Given the description of an element on the screen output the (x, y) to click on. 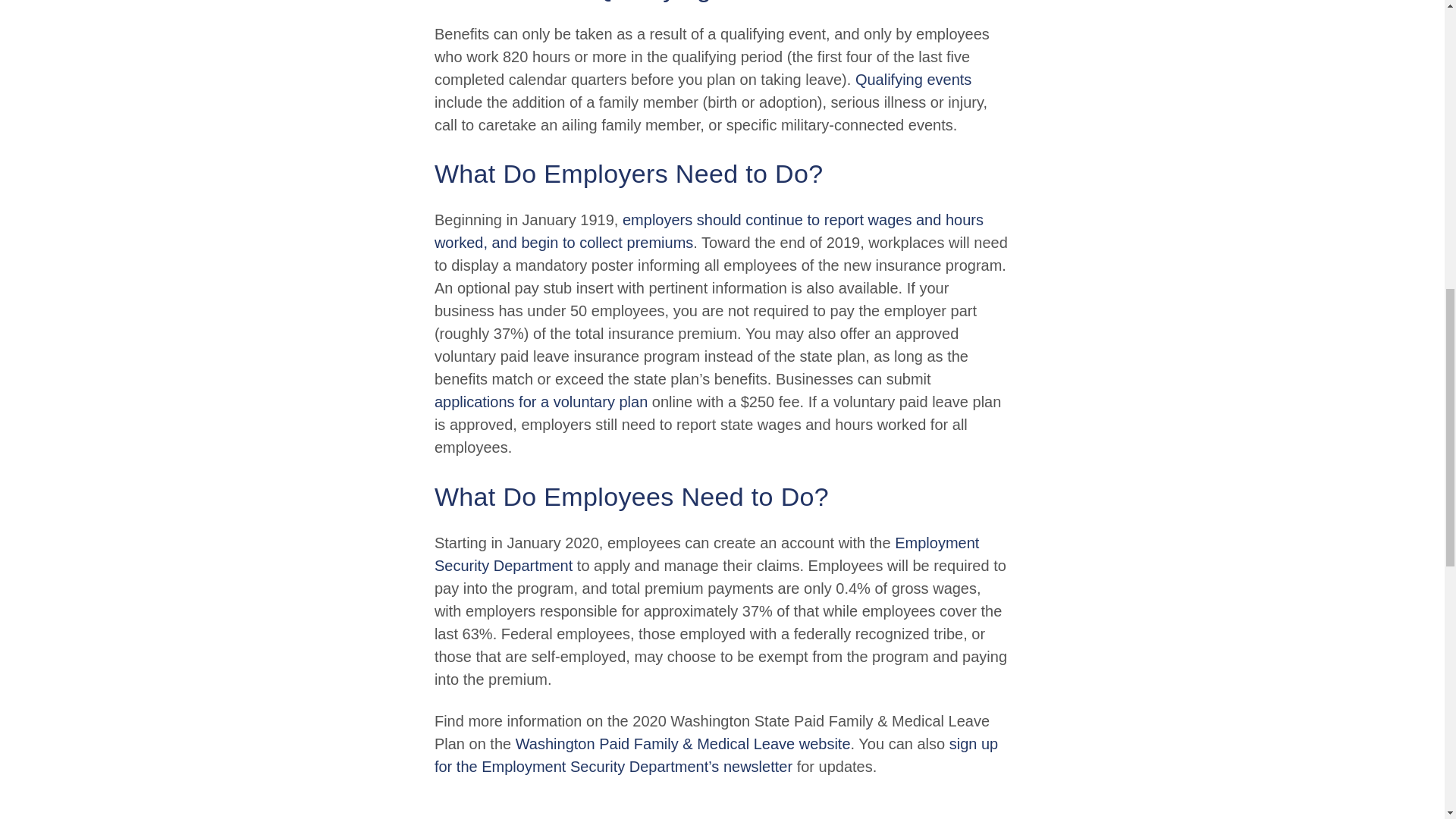
Qualifying events (913, 79)
applications for a voluntary plan (540, 401)
Scroll To Top (1420, 25)
Employment Security Department (705, 554)
